Given the description of an element on the screen output the (x, y) to click on. 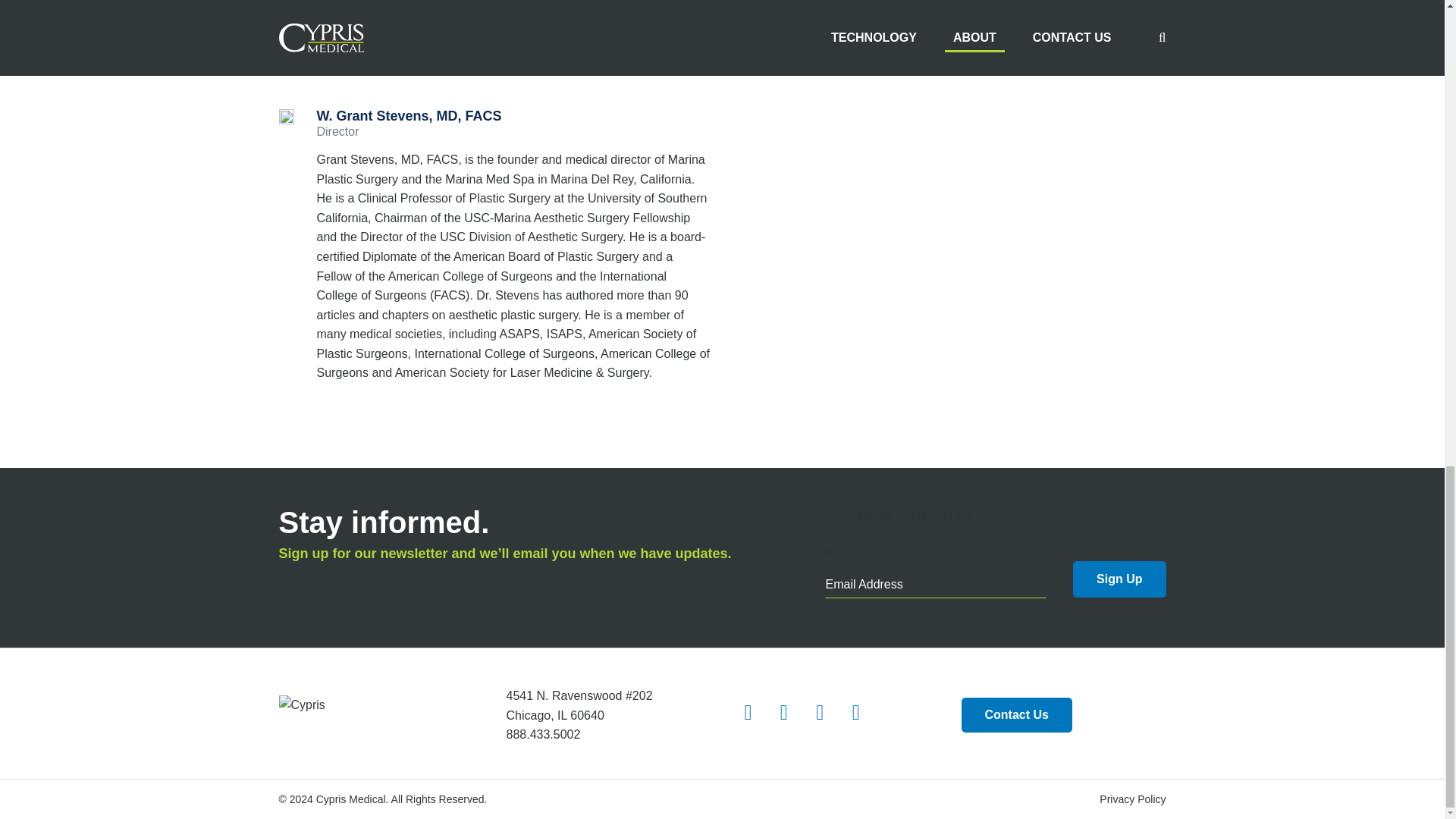
Privacy Policy (1132, 799)
Contact Us (1015, 714)
W. Grant Stevens, MD, FACS (409, 115)
888.433.5002 (543, 734)
Sign Up (1119, 579)
Sign Up (1119, 579)
